Given the description of an element on the screen output the (x, y) to click on. 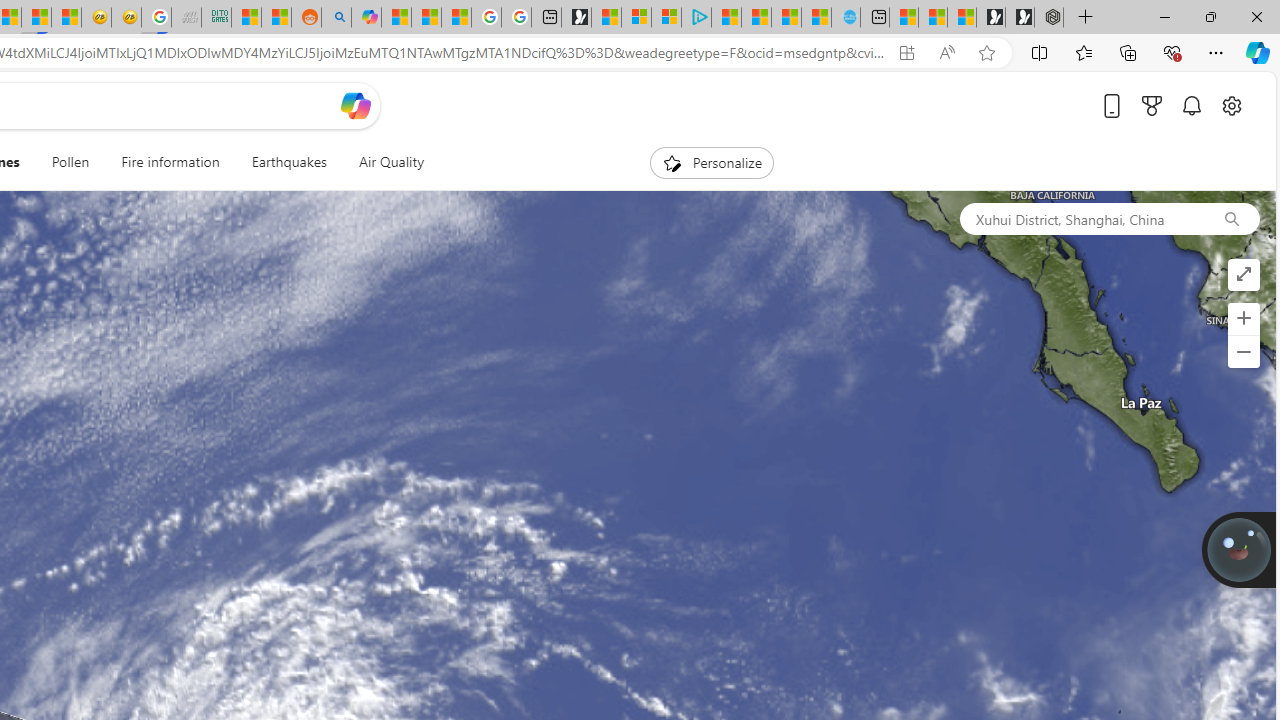
Join us in planting real trees to help our planet! (1239, 548)
Pollen (70, 162)
Earthquakes (289, 162)
Join us in planting real trees to help our planet! (1239, 549)
